Given the description of an element on the screen output the (x, y) to click on. 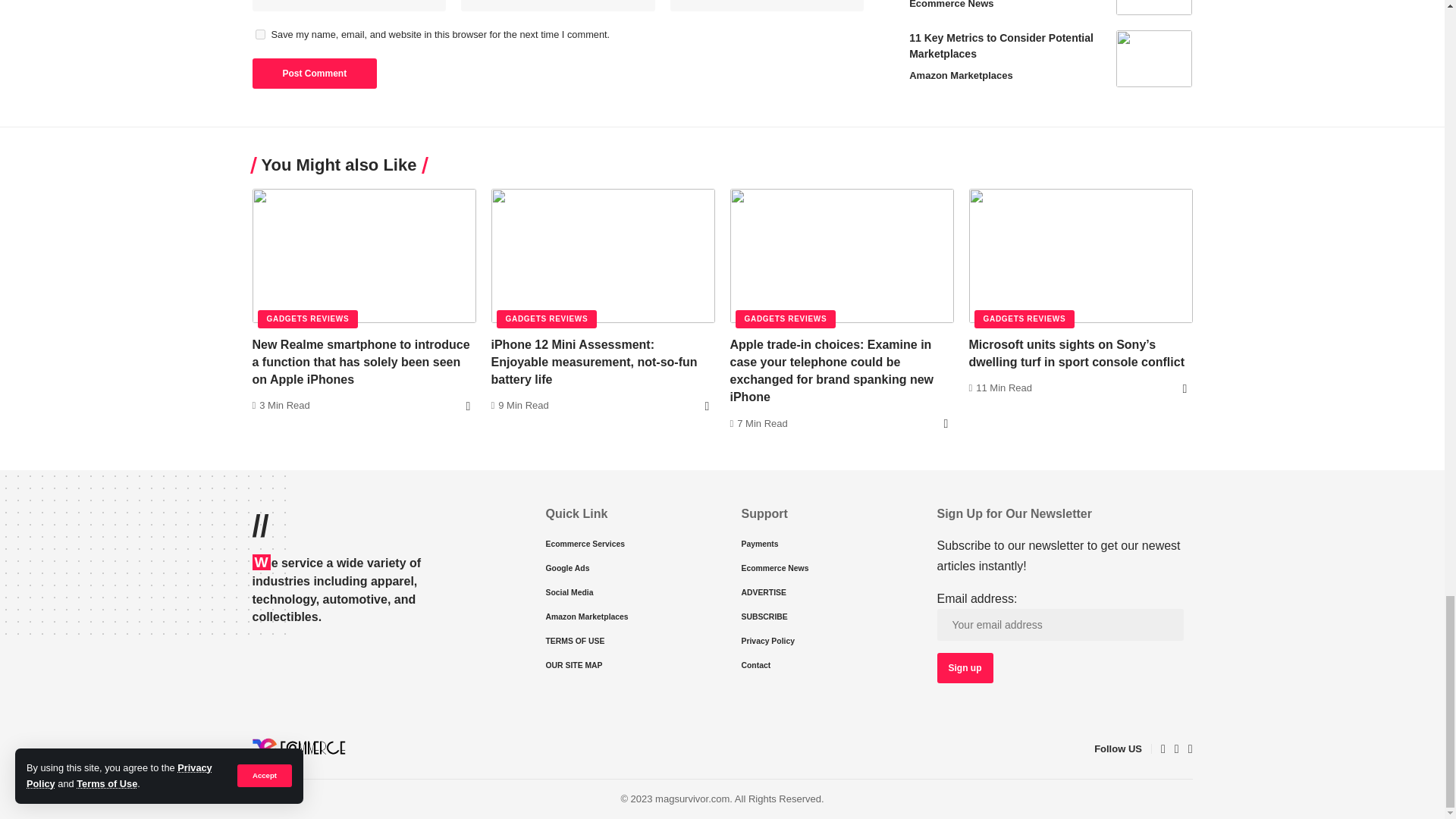
Post Comment (314, 73)
yes (259, 34)
Sign up (964, 667)
